Given the description of an element on the screen output the (x, y) to click on. 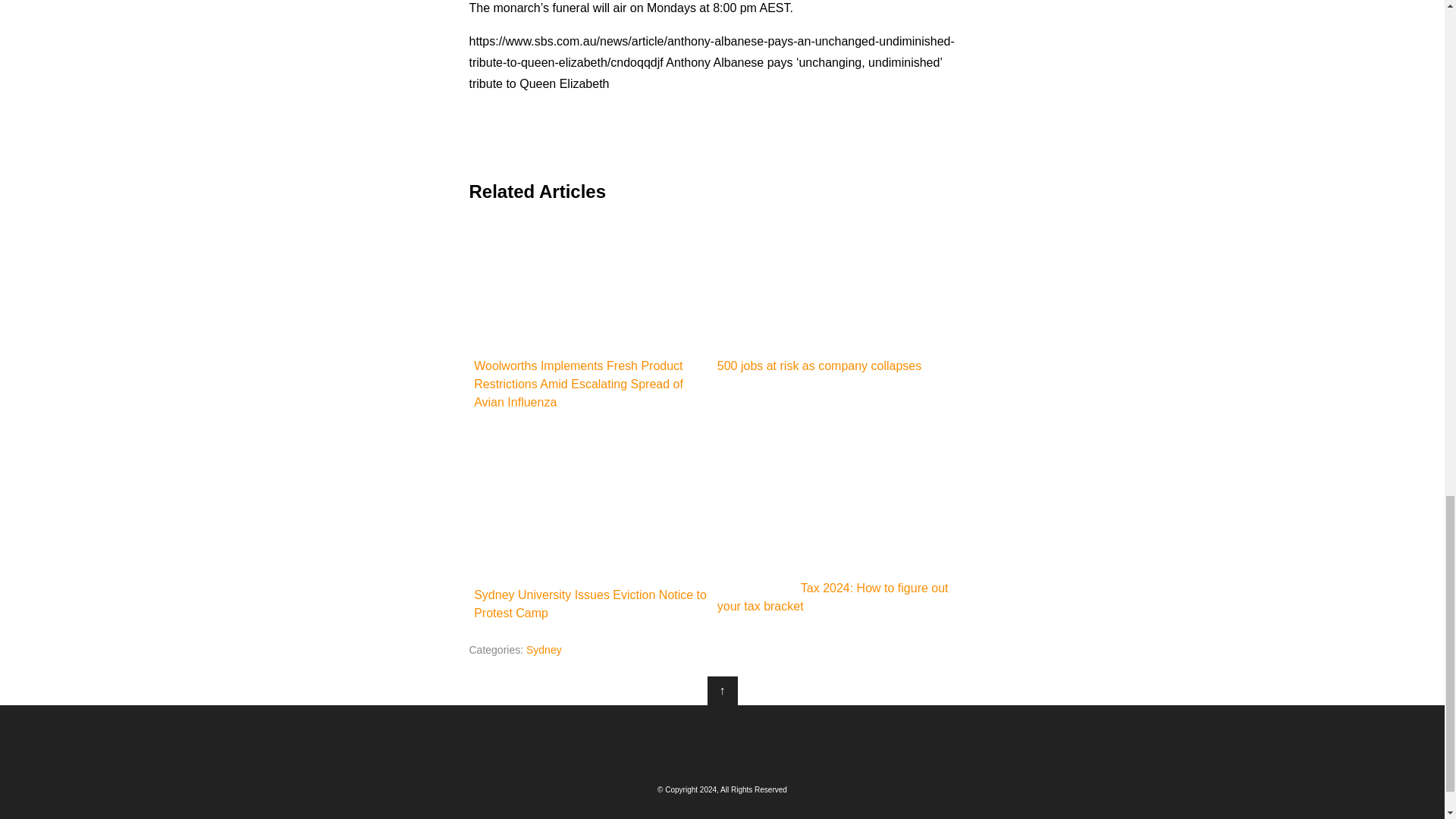
500 jobs at risk as company collapses (833, 297)
Sydney University Issues Eviction Notice to Protest Camp (590, 523)
Sydney (543, 649)
Tax 2024: How to figure out your tax bracket (833, 520)
Sydneynewstoday.com (721, 742)
